Given the description of an element on the screen output the (x, y) to click on. 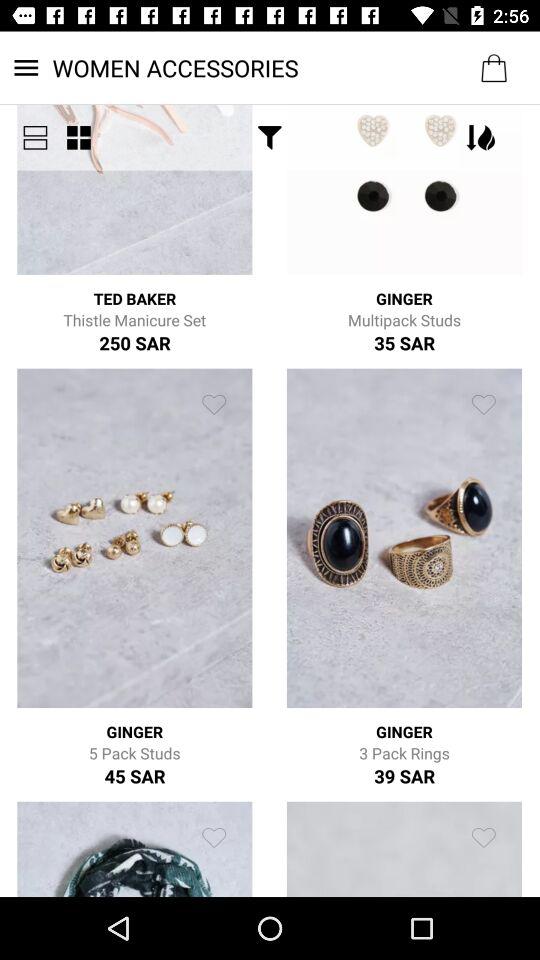
open item below women accessories icon (35, 137)
